Given the description of an element on the screen output the (x, y) to click on. 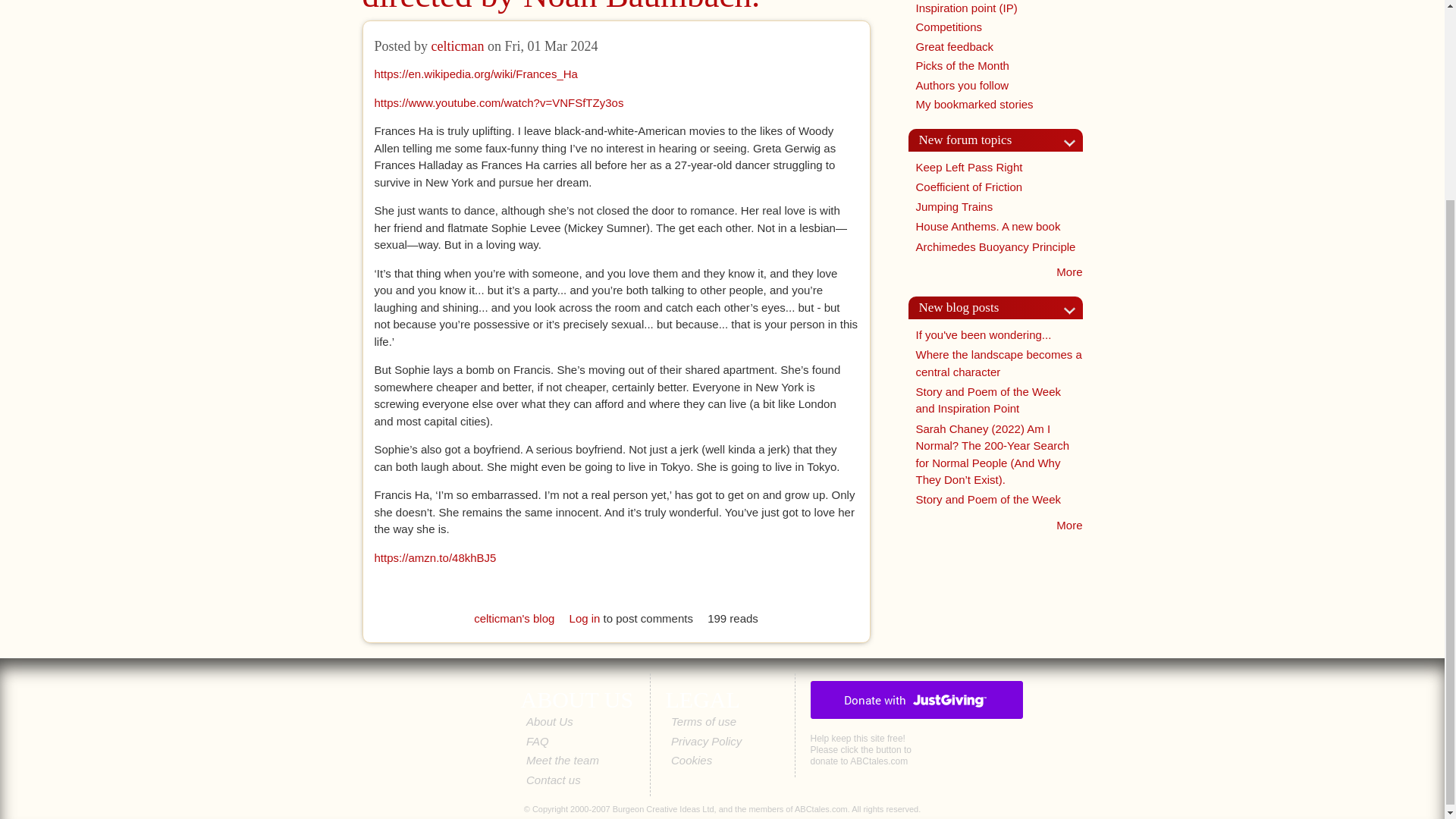
Jumping Trains (953, 205)
Coefficient of Friction (969, 186)
Story and Poem of the Week (988, 499)
Meet the team (561, 759)
celticman (457, 46)
Keep Left Pass Right (969, 166)
More (1069, 271)
Log in (584, 617)
Read the latest blog entries. (1069, 524)
Great feedback (954, 45)
